Given the description of an element on the screen output the (x, y) to click on. 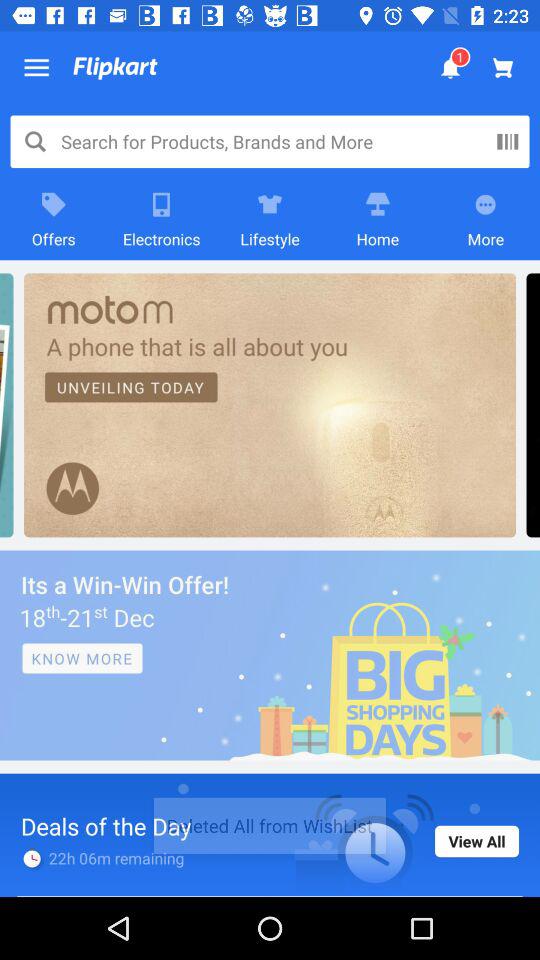
open the item to the right of search for products (507, 141)
